Given the description of an element on the screen output the (x, y) to click on. 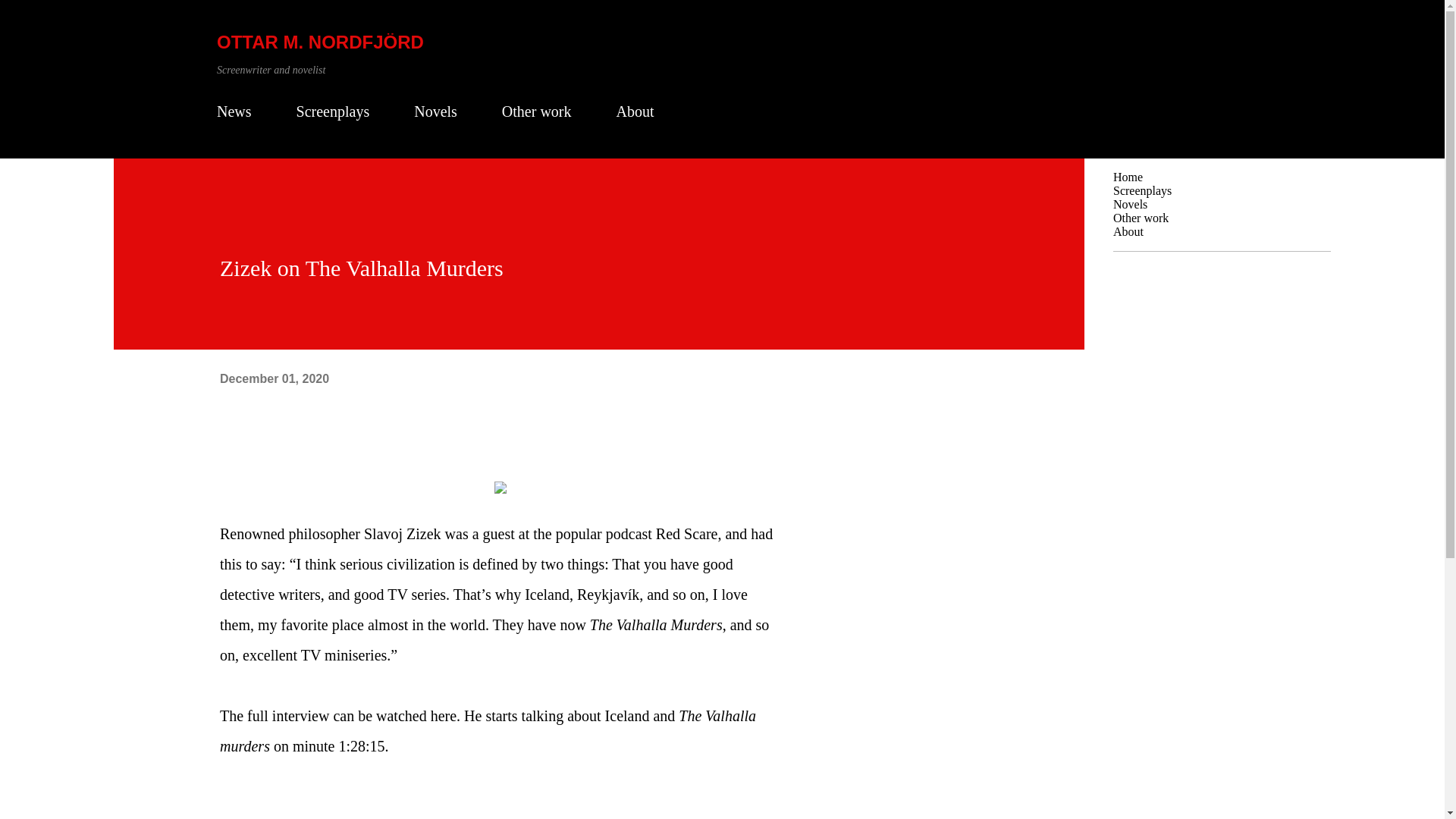
About (1127, 231)
Screenplays (1142, 190)
permanent link (274, 378)
About (634, 111)
Other work (1141, 217)
here (443, 715)
December 01, 2020 (274, 378)
Other work (536, 111)
Home (1127, 176)
News (238, 111)
